Given the description of an element on the screen output the (x, y) to click on. 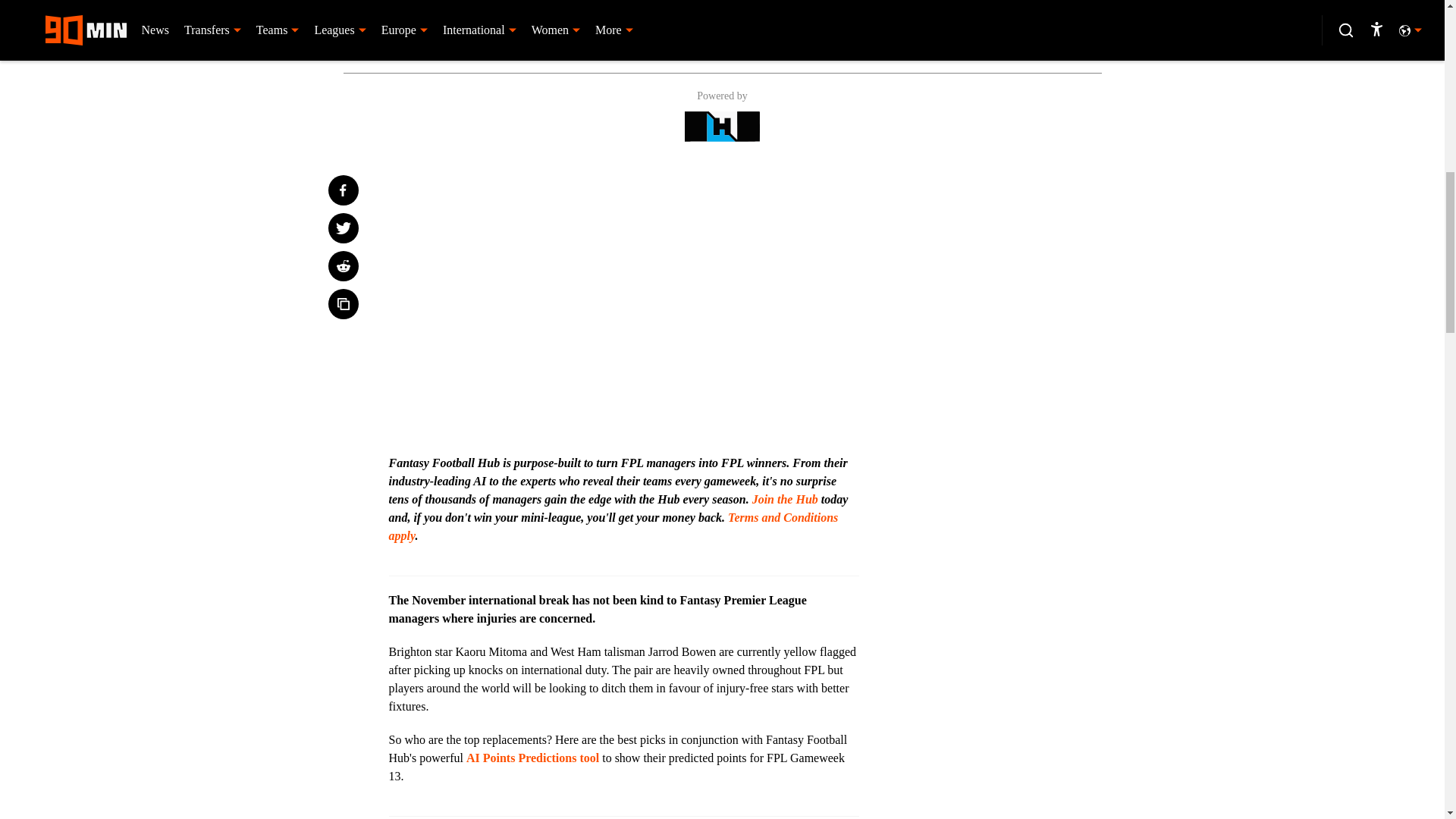
Mitoma and Bowen are injury doubts (721, 15)
